Given the description of an element on the screen output the (x, y) to click on. 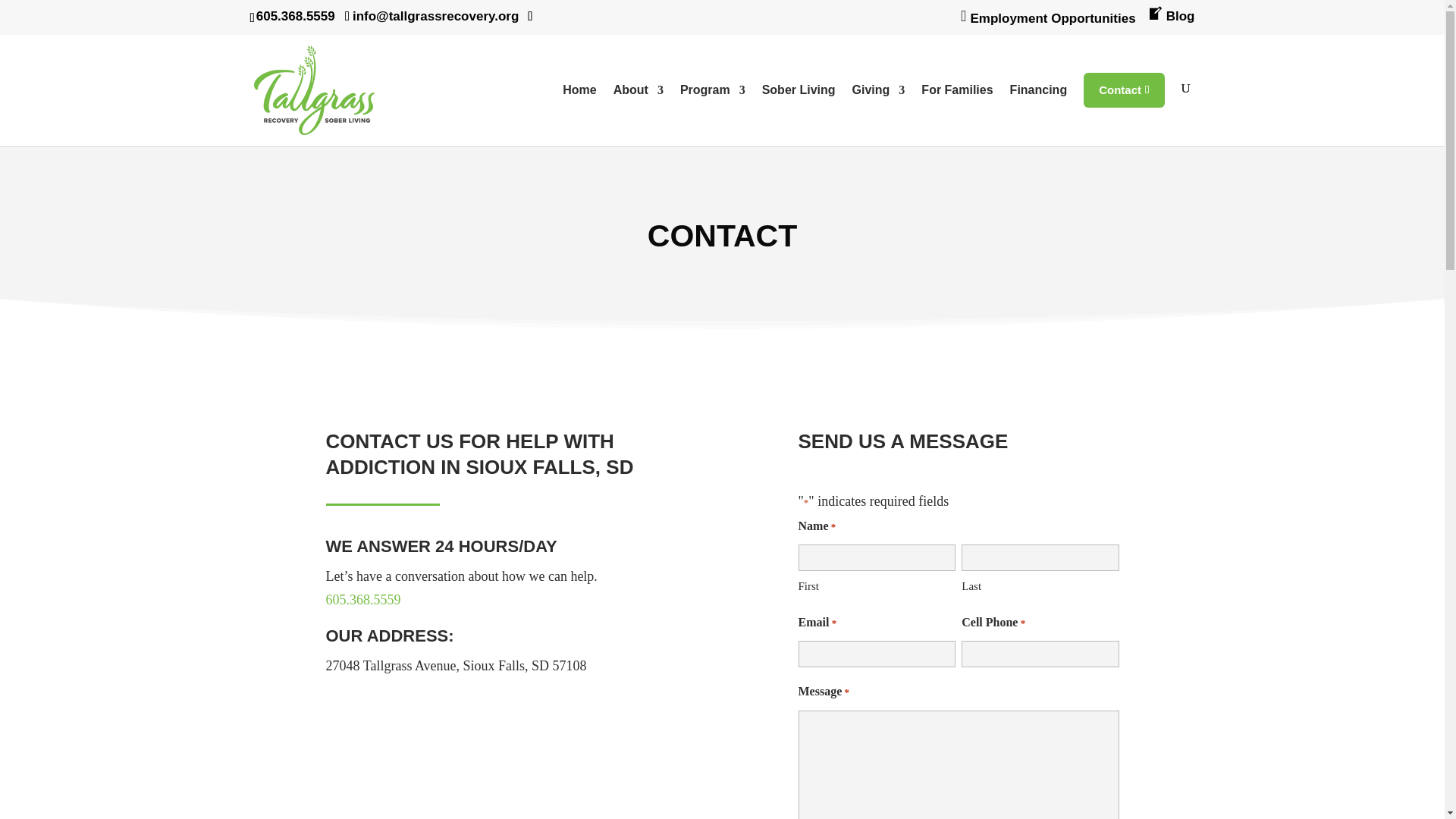
Employment Opportunities (1047, 23)
Contact (1123, 89)
Program (712, 112)
For Families (956, 112)
Blog (1171, 20)
Sober Living (798, 112)
